Given the description of an element on the screen output the (x, y) to click on. 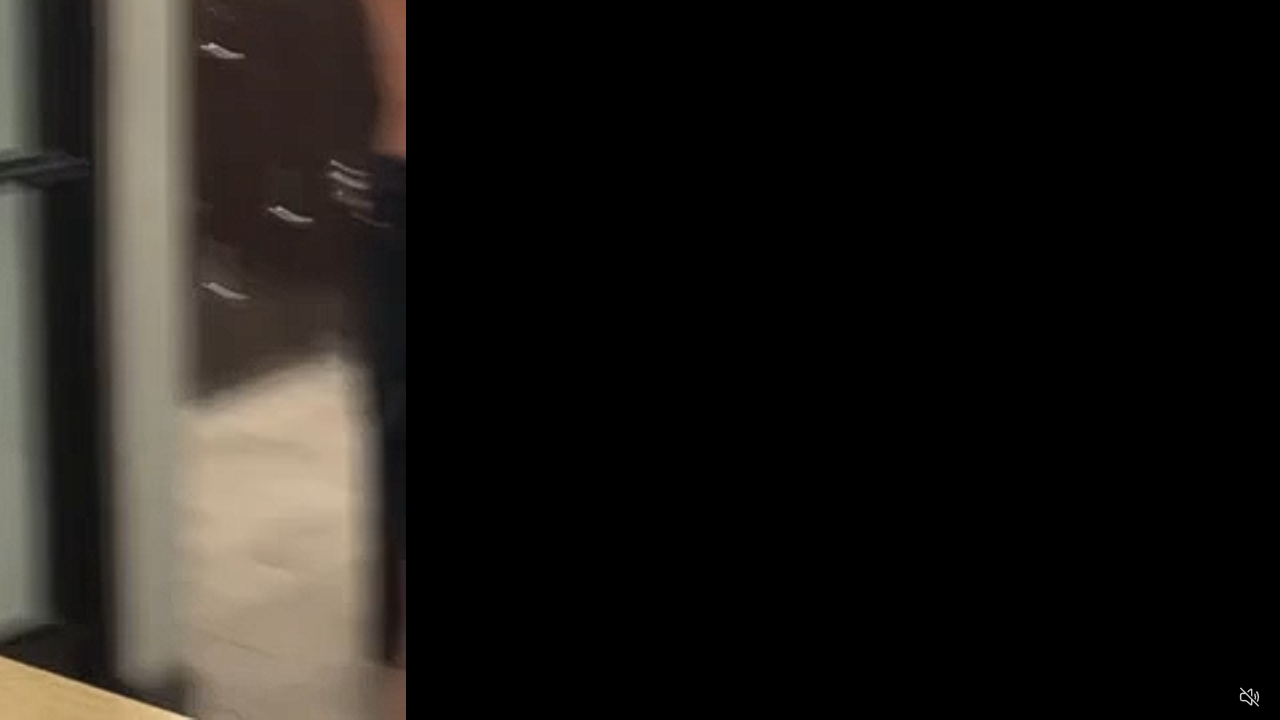
Quality Settings (1132, 697)
Non-Fullscreen (1211, 697)
Captions (1171, 697)
Unmute (1249, 696)
